Given the description of an element on the screen output the (x, y) to click on. 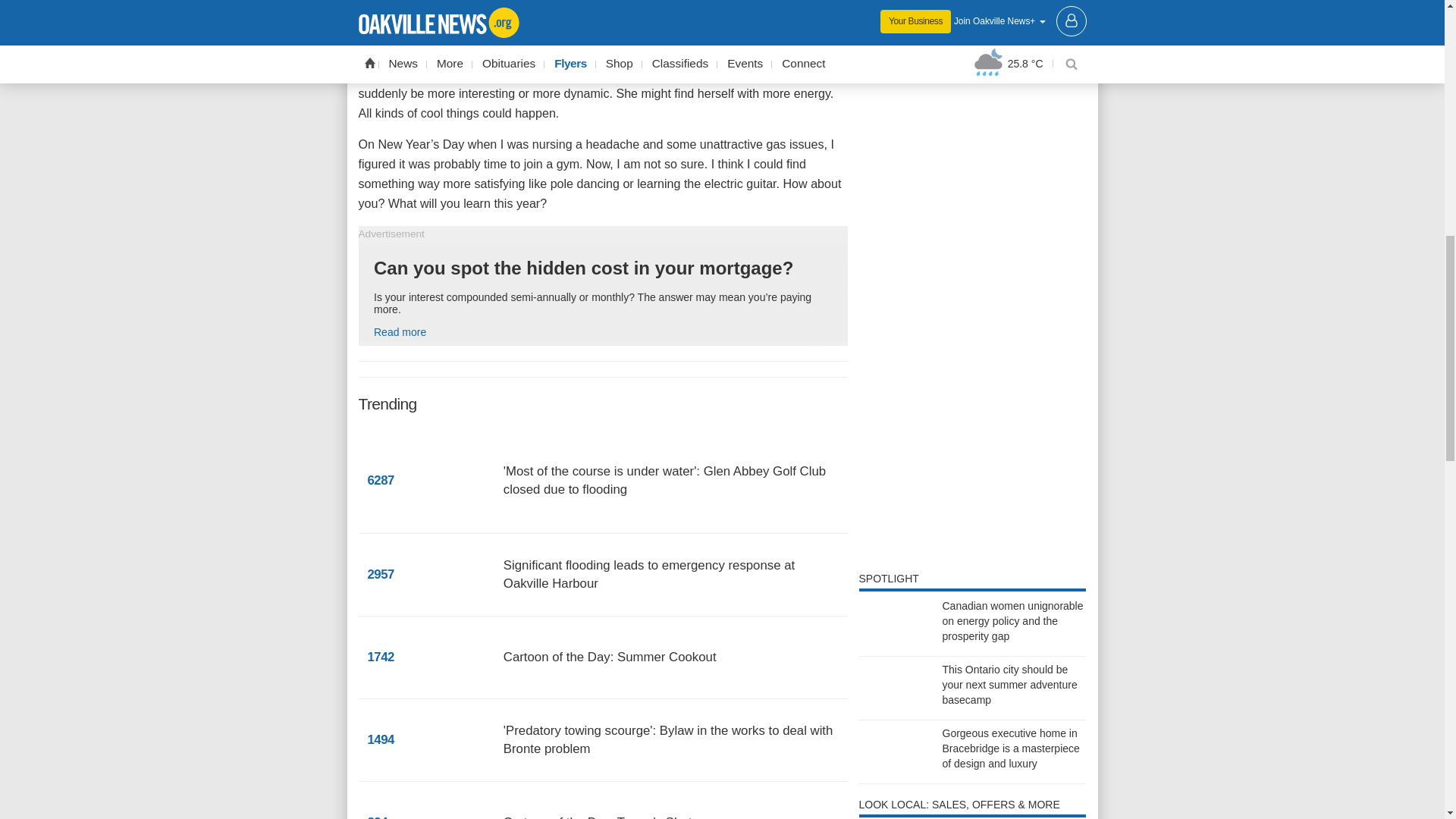
3rd party ad content (972, 152)
3rd party ad content (972, 511)
3rd party ad content (972, 357)
3rd party ad content (602, 293)
3rd party ad content (972, 21)
